Given the description of an element on the screen output the (x, y) to click on. 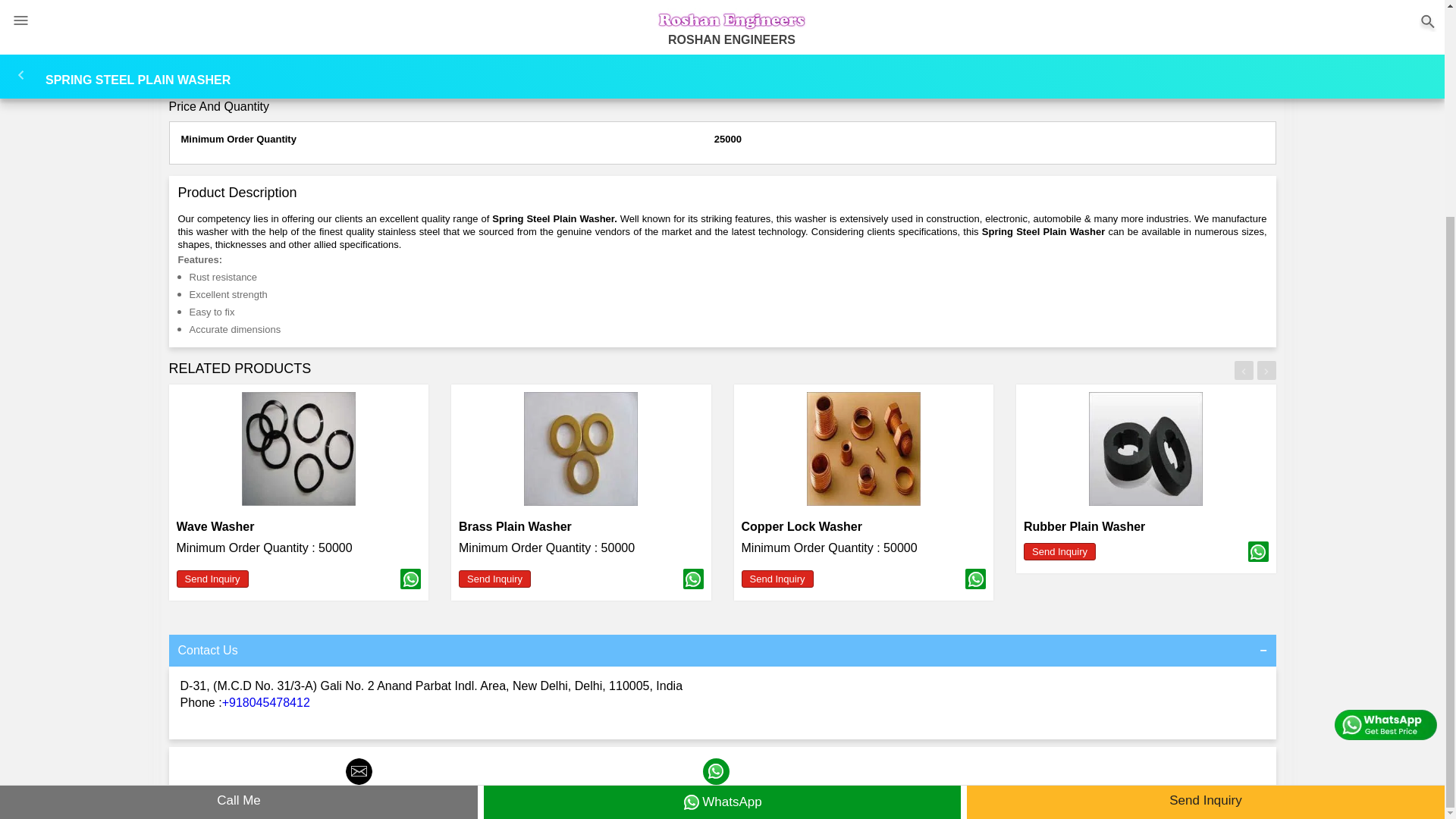
Send Inquiry (1059, 551)
Rubber Plain Washer (1083, 526)
Brass Plain Washer (515, 526)
Send Inquiry (211, 579)
Wave Washer (214, 526)
Copper Lock Washer (801, 526)
Send Inquiry (777, 579)
Send Inquiry (494, 579)
